Given the description of an element on the screen output the (x, y) to click on. 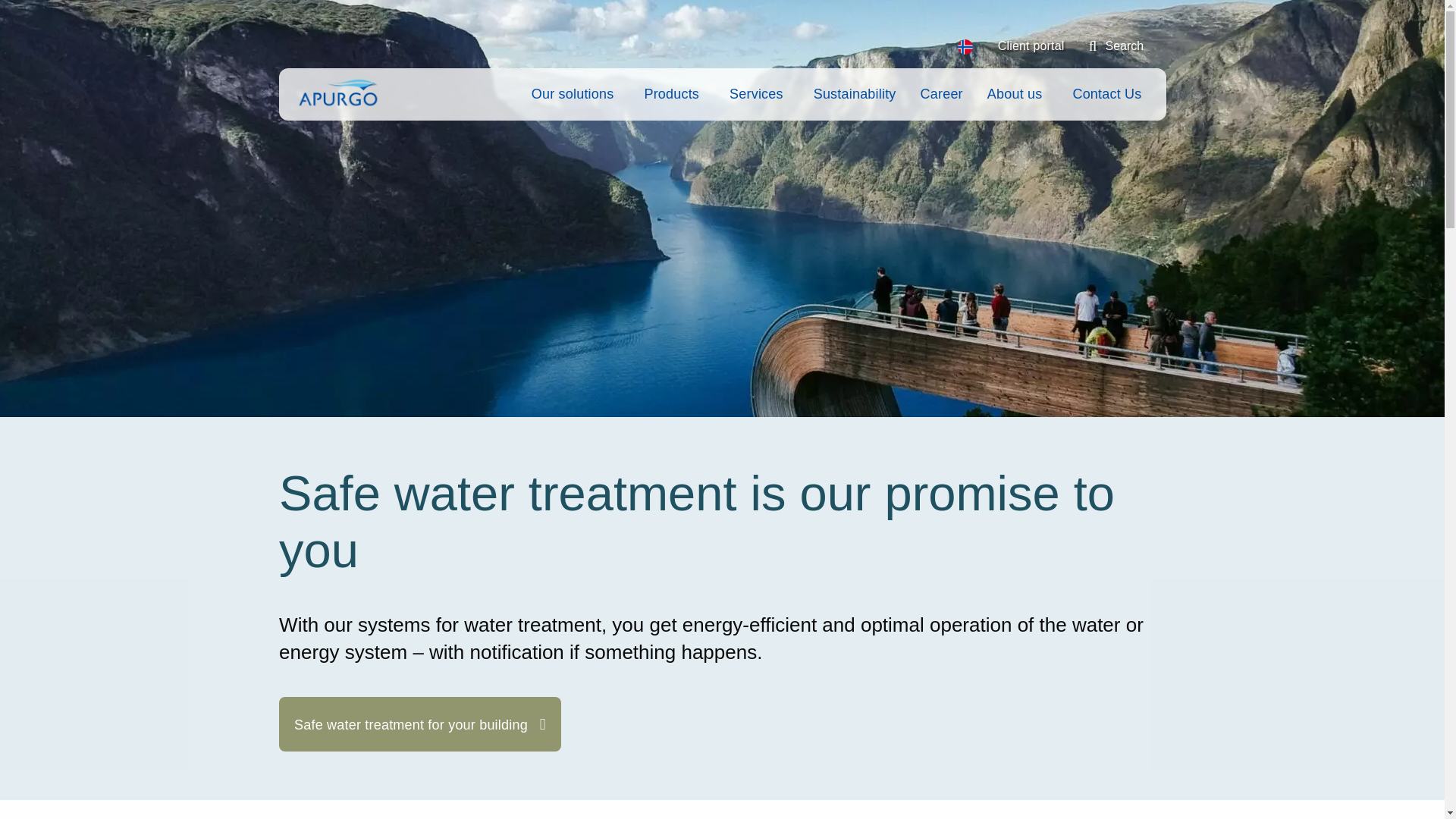
Client portal (1030, 45)
